Given the description of an element on the screen output the (x, y) to click on. 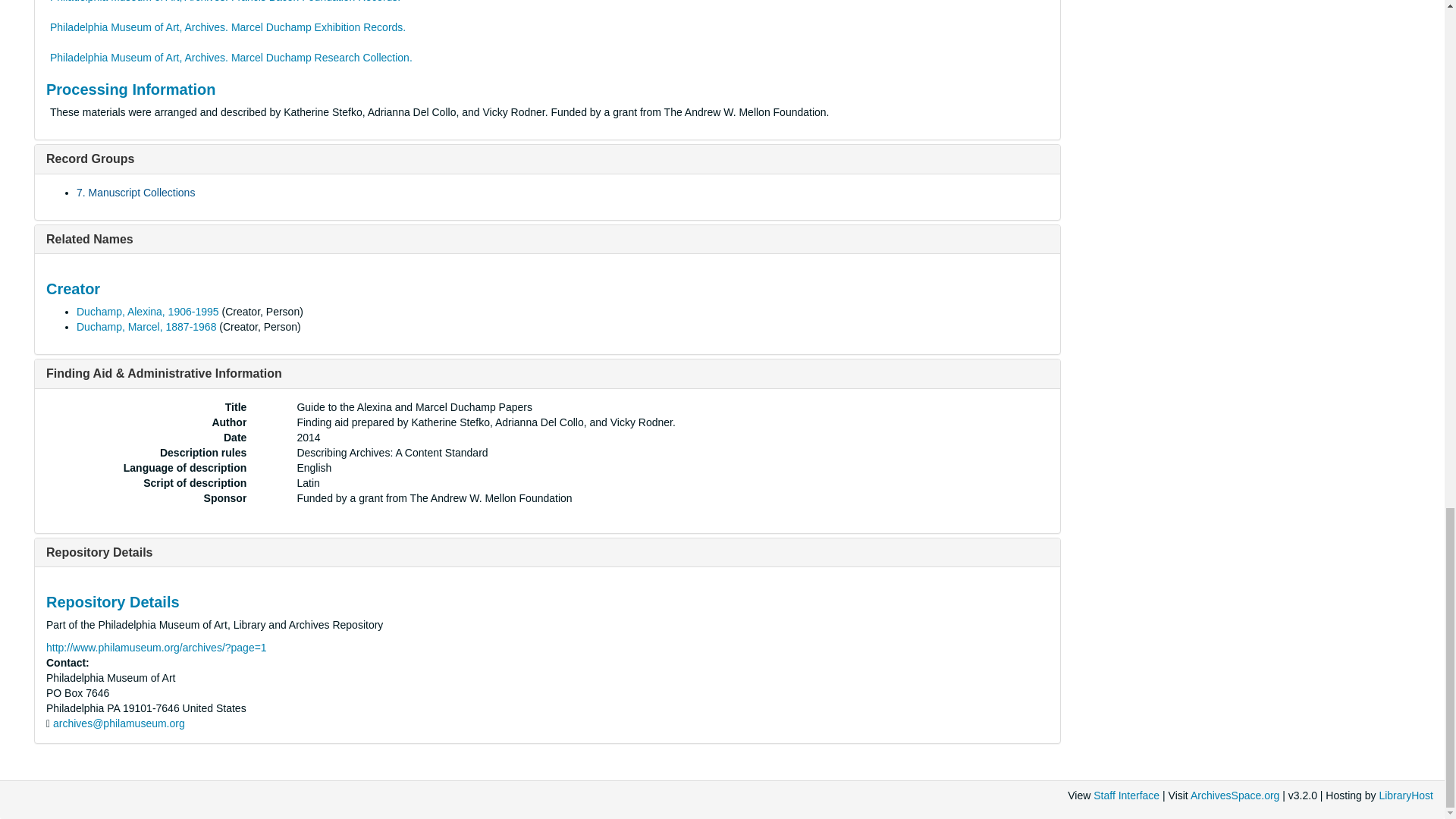
Record Groups (89, 158)
Related Names (89, 238)
Send email (118, 723)
Duchamp, Marcel, 1887-1968 (146, 326)
Duchamp, Alexina, 1906-1995 (148, 311)
7. Manuscript Collections (136, 192)
Repository Details (99, 552)
